Given the description of an element on the screen output the (x, y) to click on. 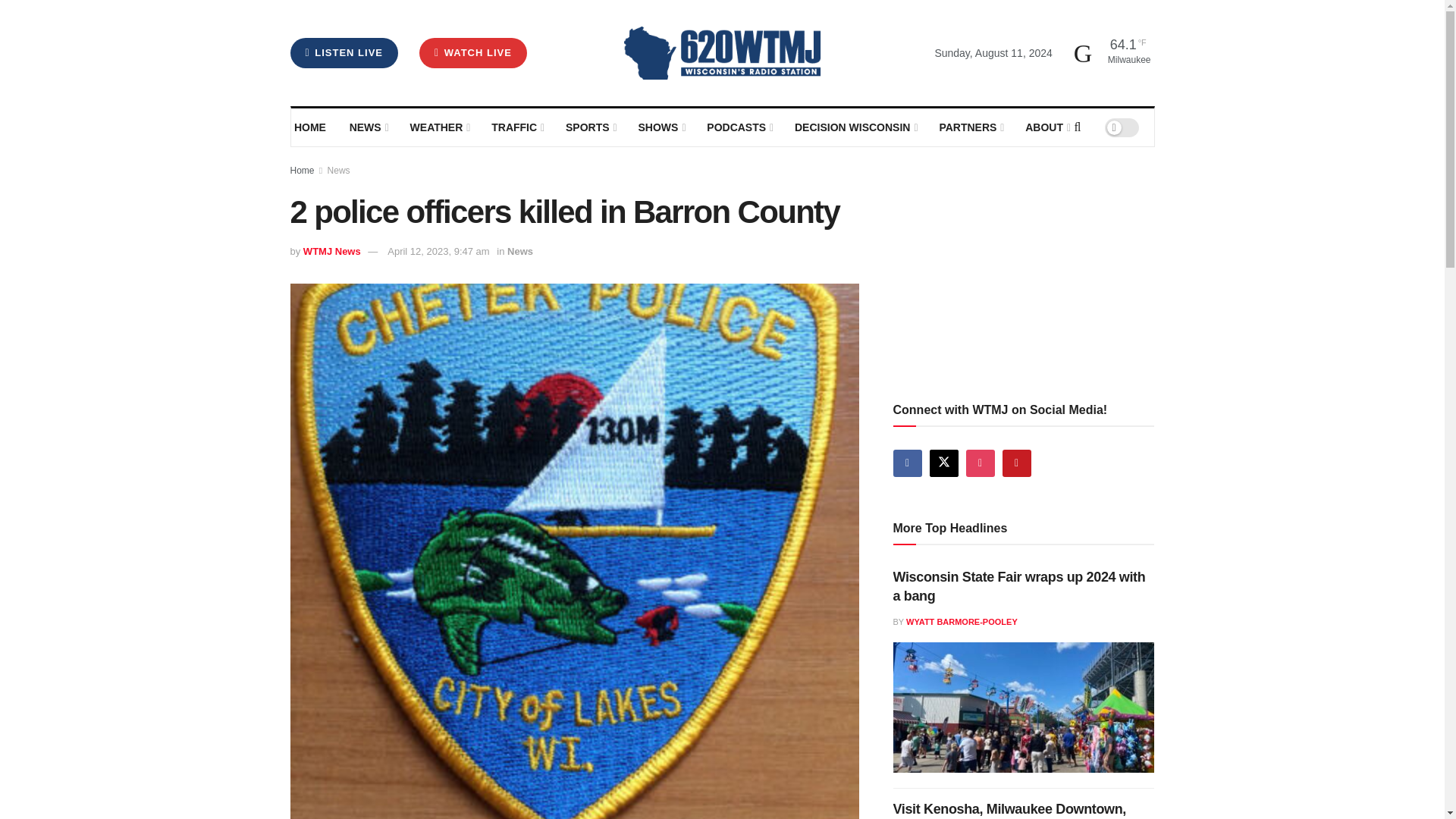
WEATHER (438, 127)
WATCH LIVE (473, 52)
SPORTS (589, 127)
HOME (310, 127)
NEWS (368, 127)
TRAFFIC (516, 127)
LISTEN LIVE (343, 52)
